Given the description of an element on the screen output the (x, y) to click on. 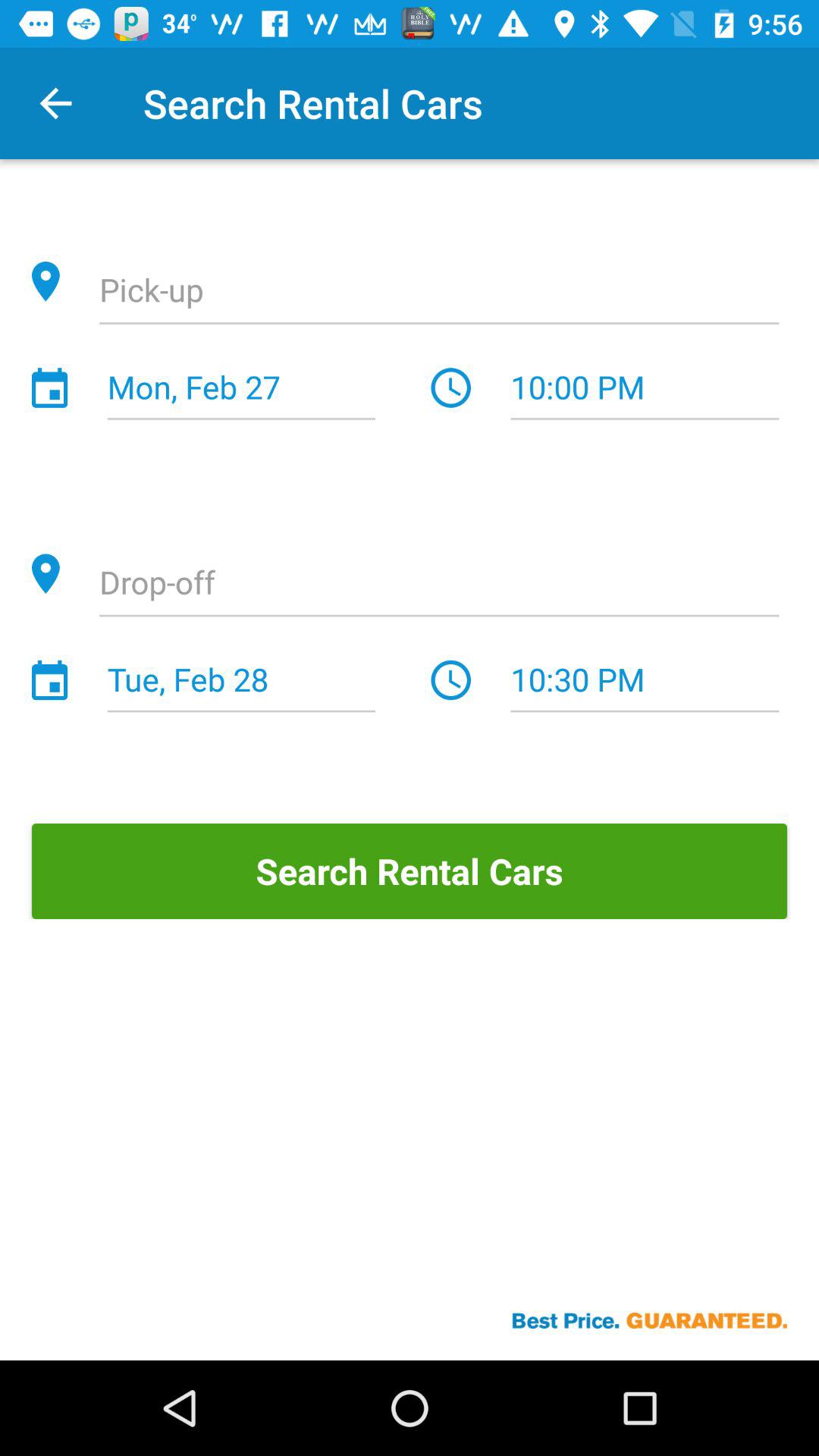
select the item next to the search rental cars icon (55, 103)
